Given the description of an element on the screen output the (x, y) to click on. 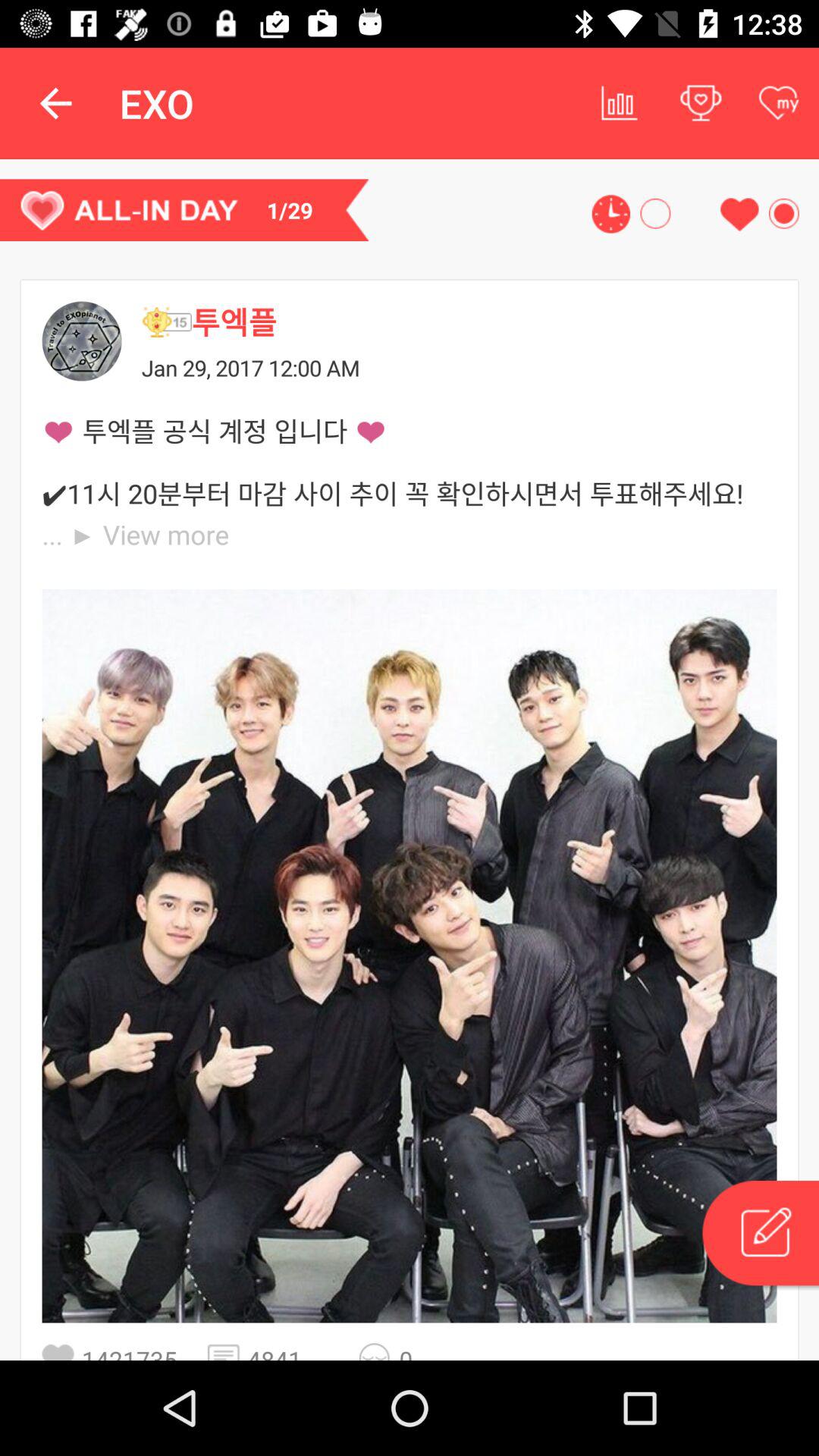
create post (759, 1235)
